Given the description of an element on the screen output the (x, y) to click on. 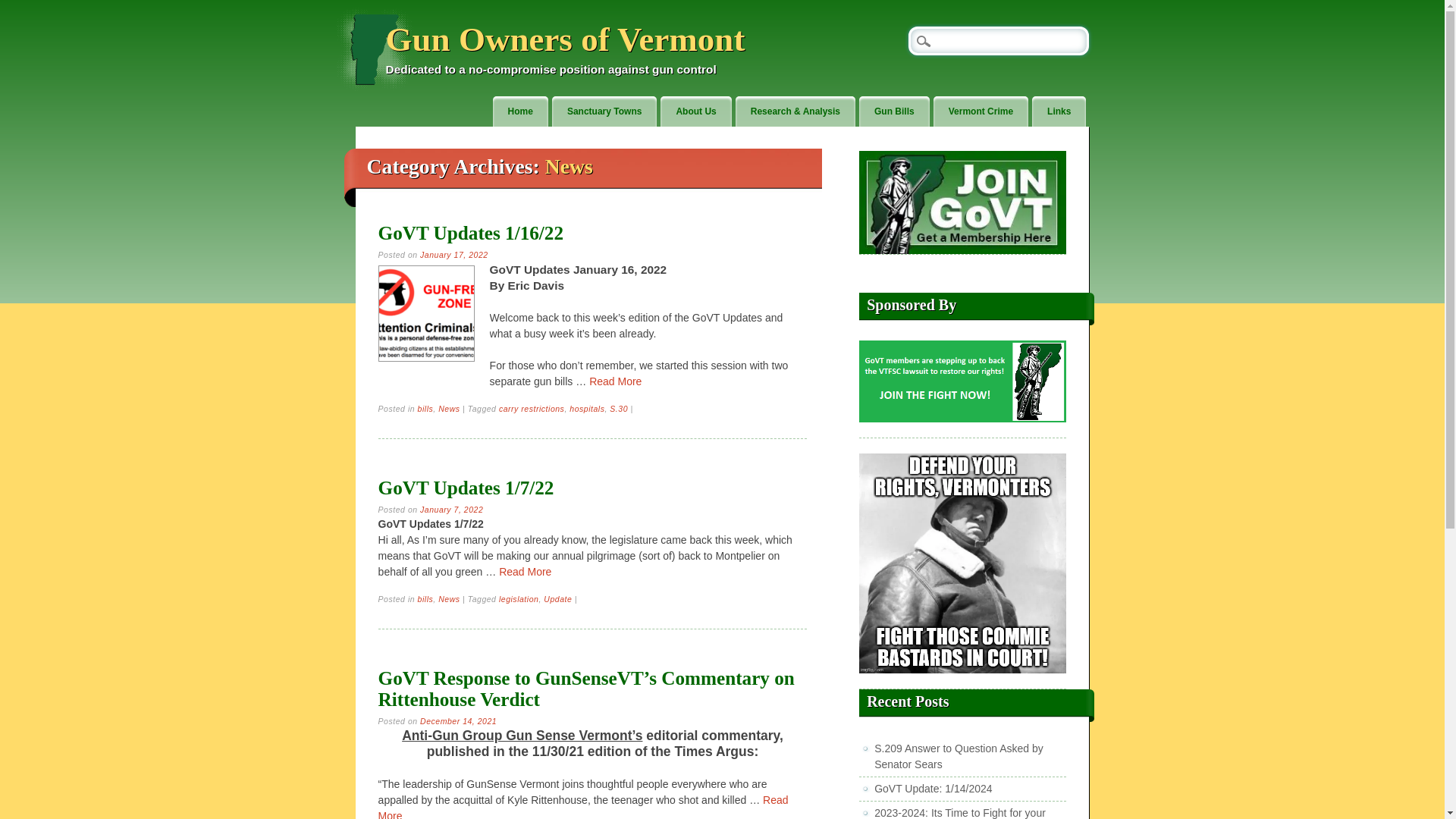
8:17 pm (458, 720)
About Us (695, 111)
Search (22, 8)
Gun Owners of Vermont (565, 39)
Home (520, 111)
8:34 pm (451, 509)
legislation (518, 598)
11:23 am (453, 254)
News (449, 598)
Read More (583, 806)
hospitals (586, 408)
Read More (615, 381)
Read More (525, 571)
Update (557, 598)
Sanctuary Towns (603, 111)
